Given the description of an element on the screen output the (x, y) to click on. 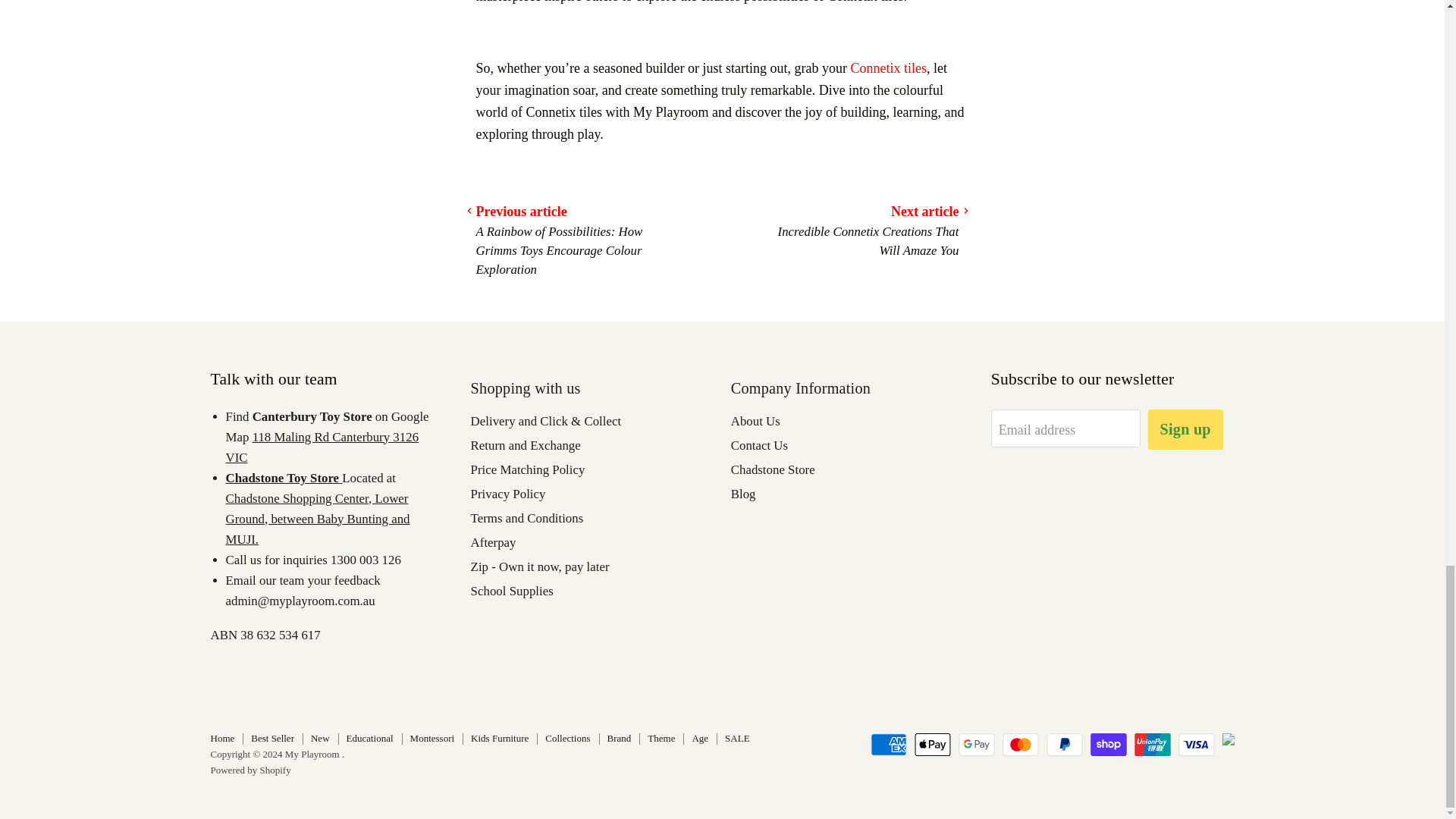
My Playroom Chadstone (317, 519)
American Express (888, 744)
My Playroom Chadstone (283, 477)
Apple Pay (932, 744)
